Given the description of an element on the screen output the (x, y) to click on. 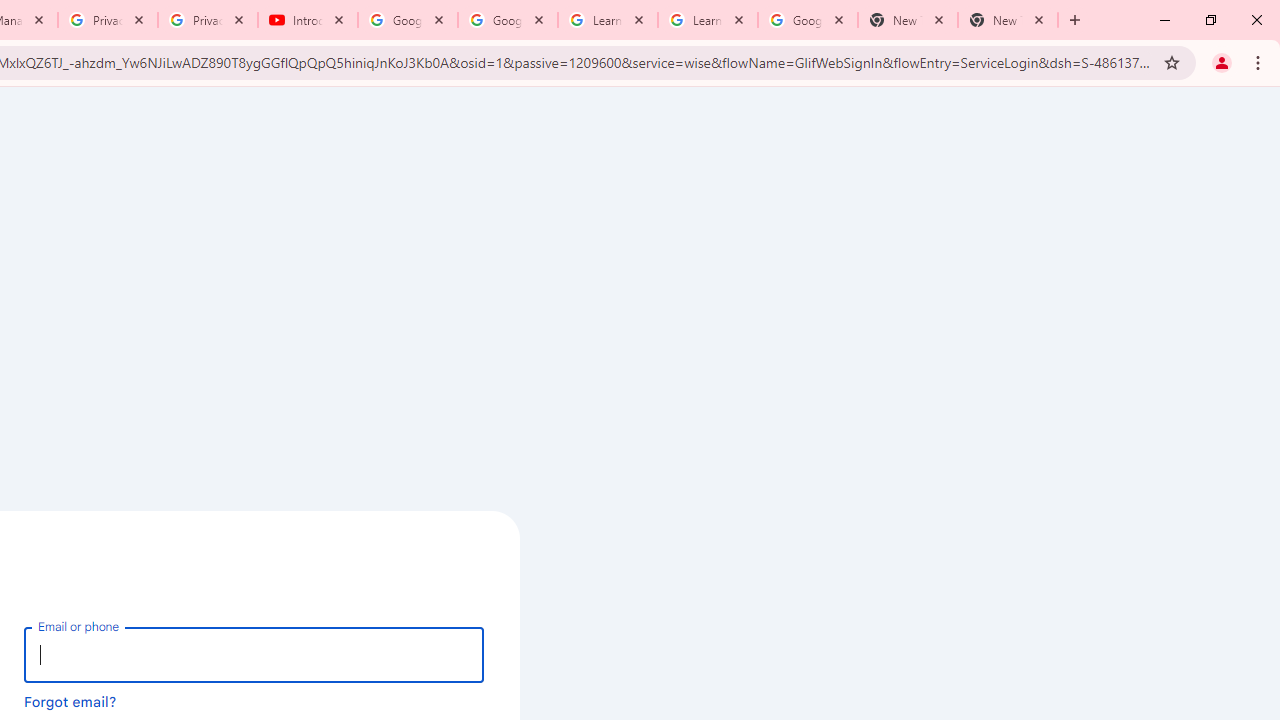
Google Account (807, 20)
Introduction | Google Privacy Policy - YouTube (308, 20)
